Given the description of an element on the screen output the (x, y) to click on. 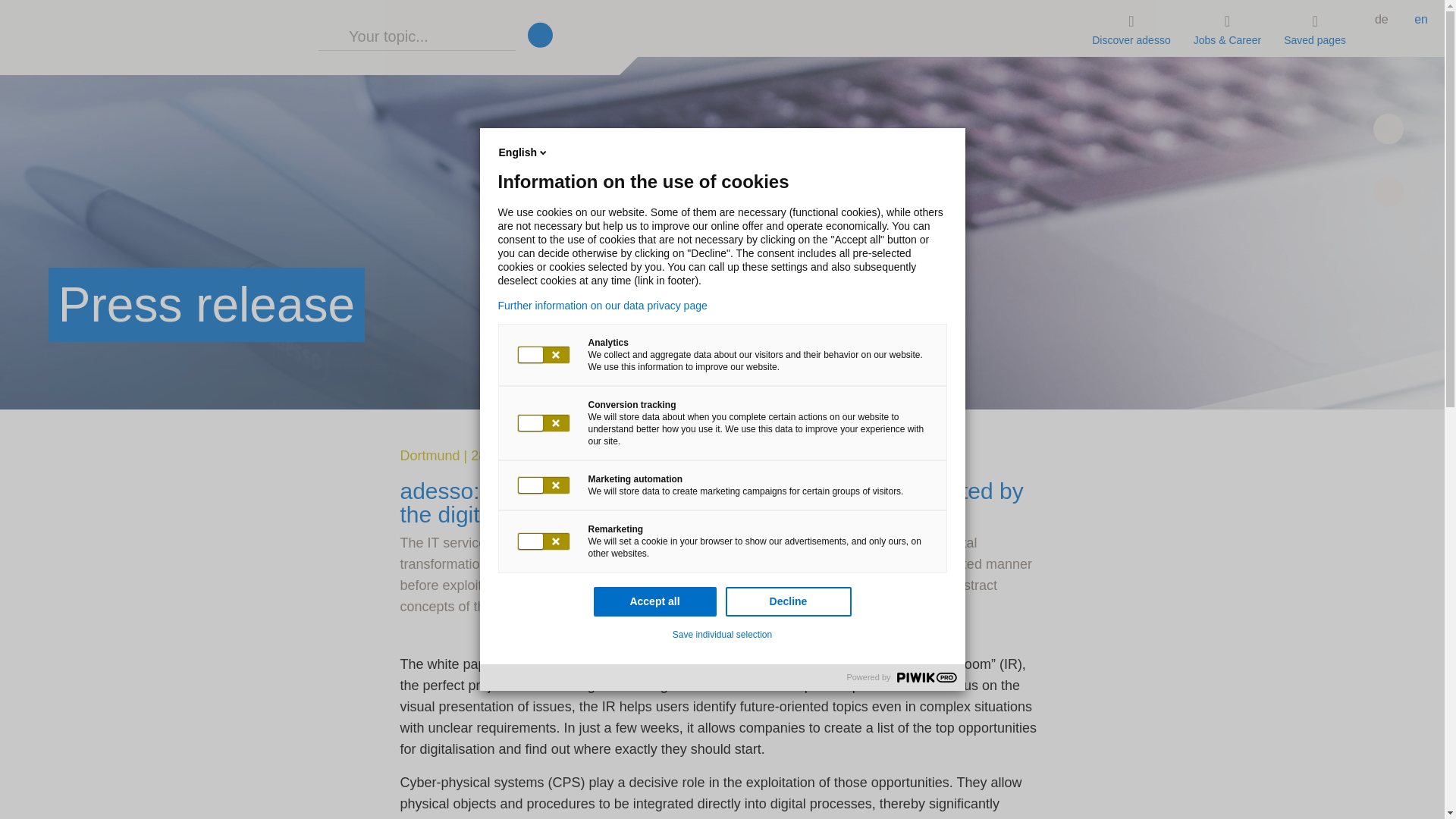
en (1421, 17)
Discover adesso (1131, 28)
Saved pages (1314, 28)
de (1380, 17)
